Given the description of an element on the screen output the (x, y) to click on. 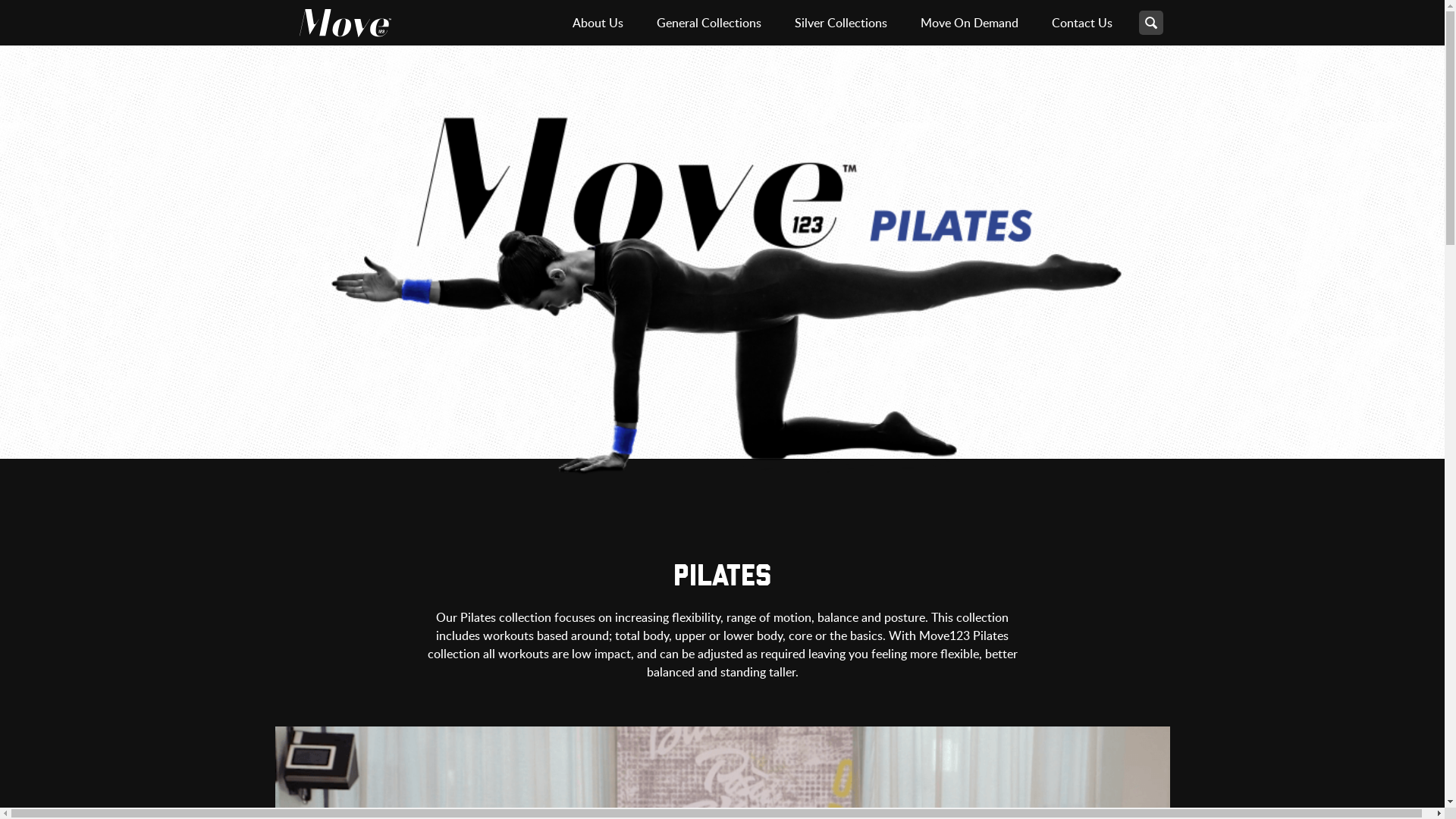
Silver Collections Element type: text (840, 22)
Search Element type: text (1151, 22)
Move123 Element type: text (344, 22)
About Us Element type: text (596, 22)
Move On Demand Element type: text (969, 22)
General Collections Element type: text (708, 22)
Contact Us Element type: text (1081, 22)
